Given the description of an element on the screen output the (x, y) to click on. 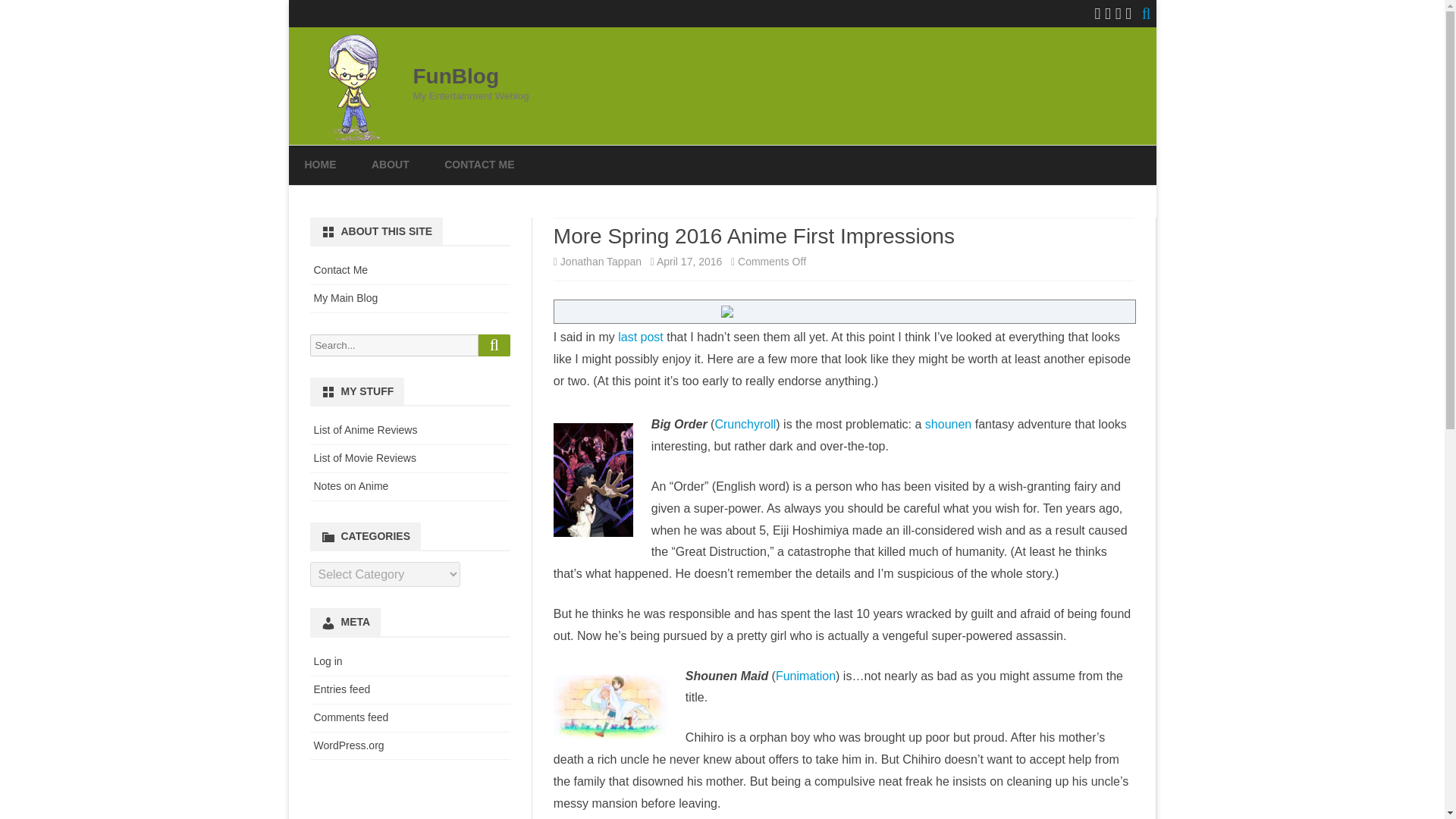
Contact Me (341, 269)
last post (640, 336)
FunBlog (455, 76)
Funimation (805, 675)
Crunchyroll (745, 423)
CONTACT ME (478, 165)
ABOUT (390, 165)
FunBlog (455, 76)
